Given the description of an element on the screen output the (x, y) to click on. 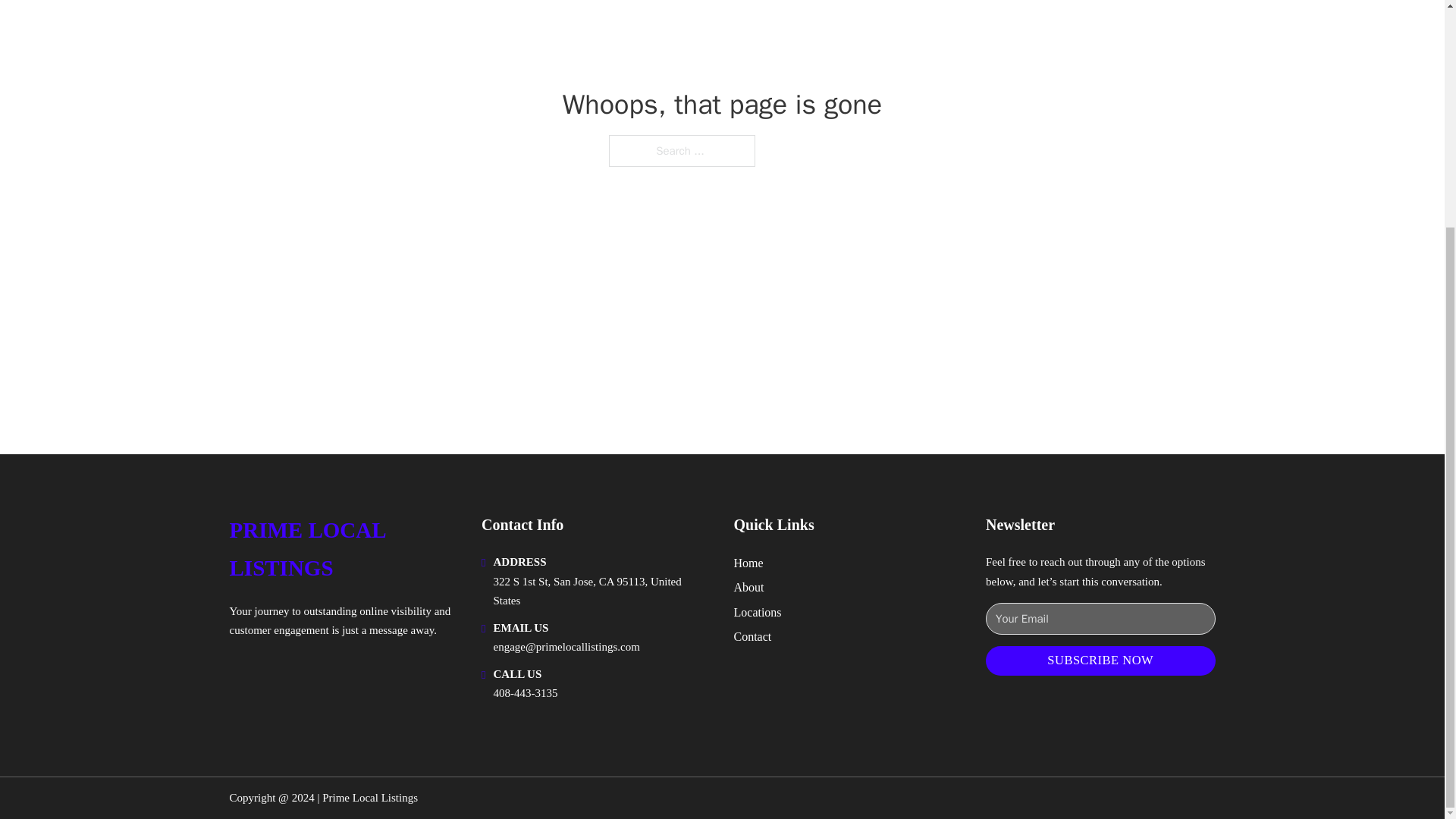
Home (747, 562)
408-443-3135 (525, 693)
About (748, 587)
SUBSCRIBE NOW (1100, 660)
Locations (757, 611)
PRIME LOCAL LISTINGS (343, 549)
Contact (752, 636)
